Given the description of an element on the screen output the (x, y) to click on. 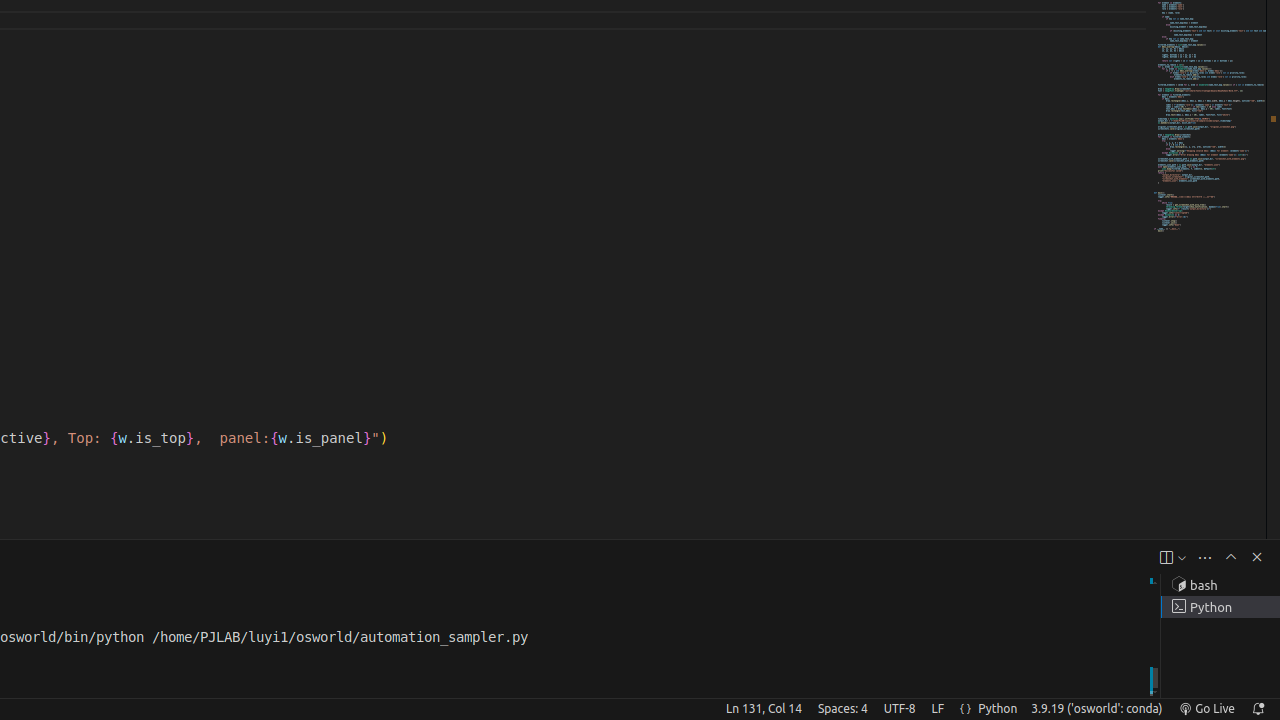
Maximize Panel Size Element type: check-box (1231, 557)
Python Element type: push-button (998, 709)
Terminal 5 Python Element type: list-item (1220, 607)
Editor Language Status: Auto Import Completions: false, next: Type Checking: off Element type: push-button (965, 709)
Views and More Actions... Element type: push-button (1205, 557)
